Given the description of an element on the screen output the (x, y) to click on. 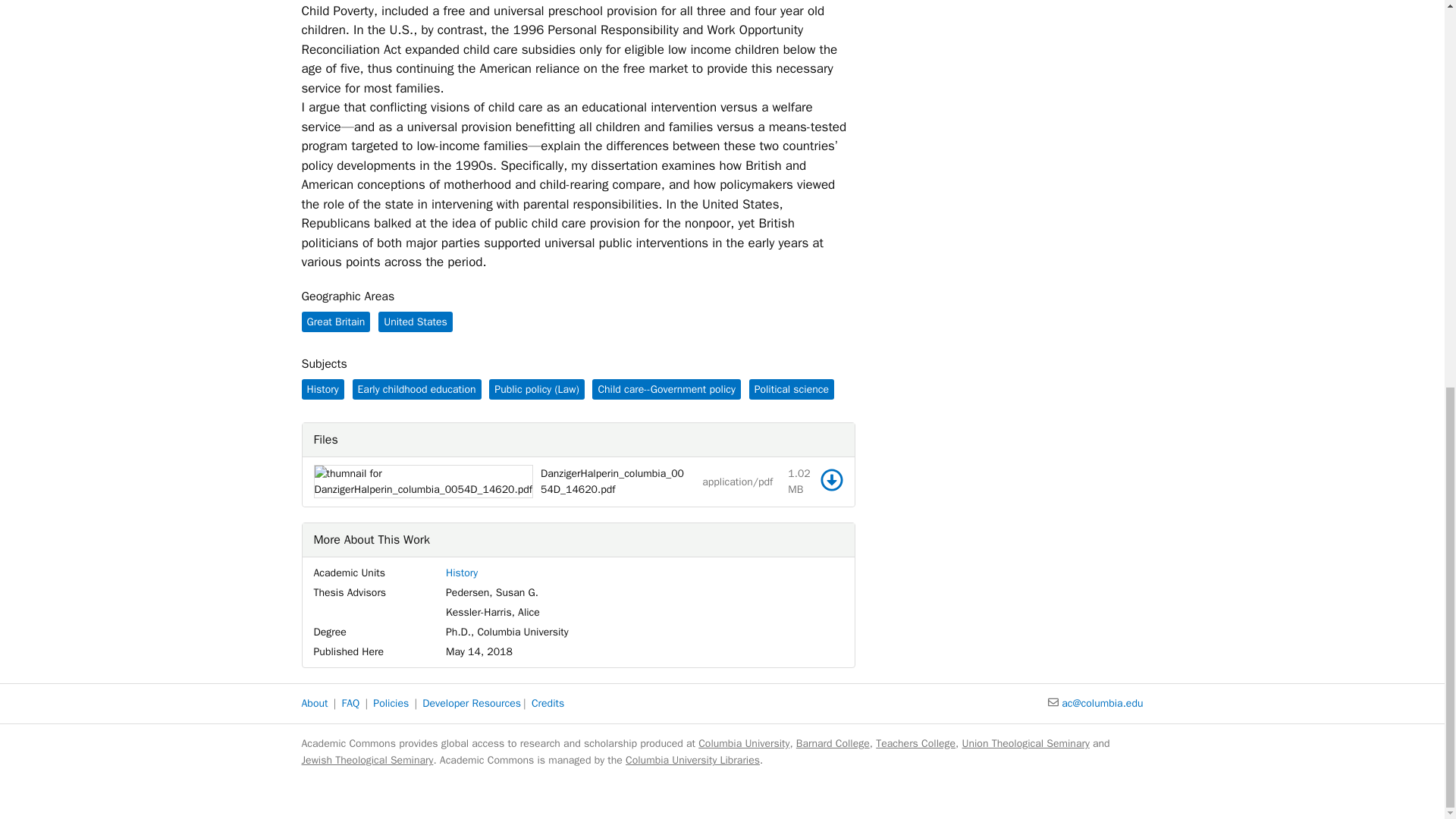
Download file (832, 479)
Barnard College (832, 743)
Columbia University (743, 743)
United States (415, 322)
History (461, 572)
Union Theological Seminary (1024, 743)
Policies (390, 703)
FAQ (349, 703)
Teachers College (915, 743)
Jewish Theological Seminary (367, 759)
